Given the description of an element on the screen output the (x, y) to click on. 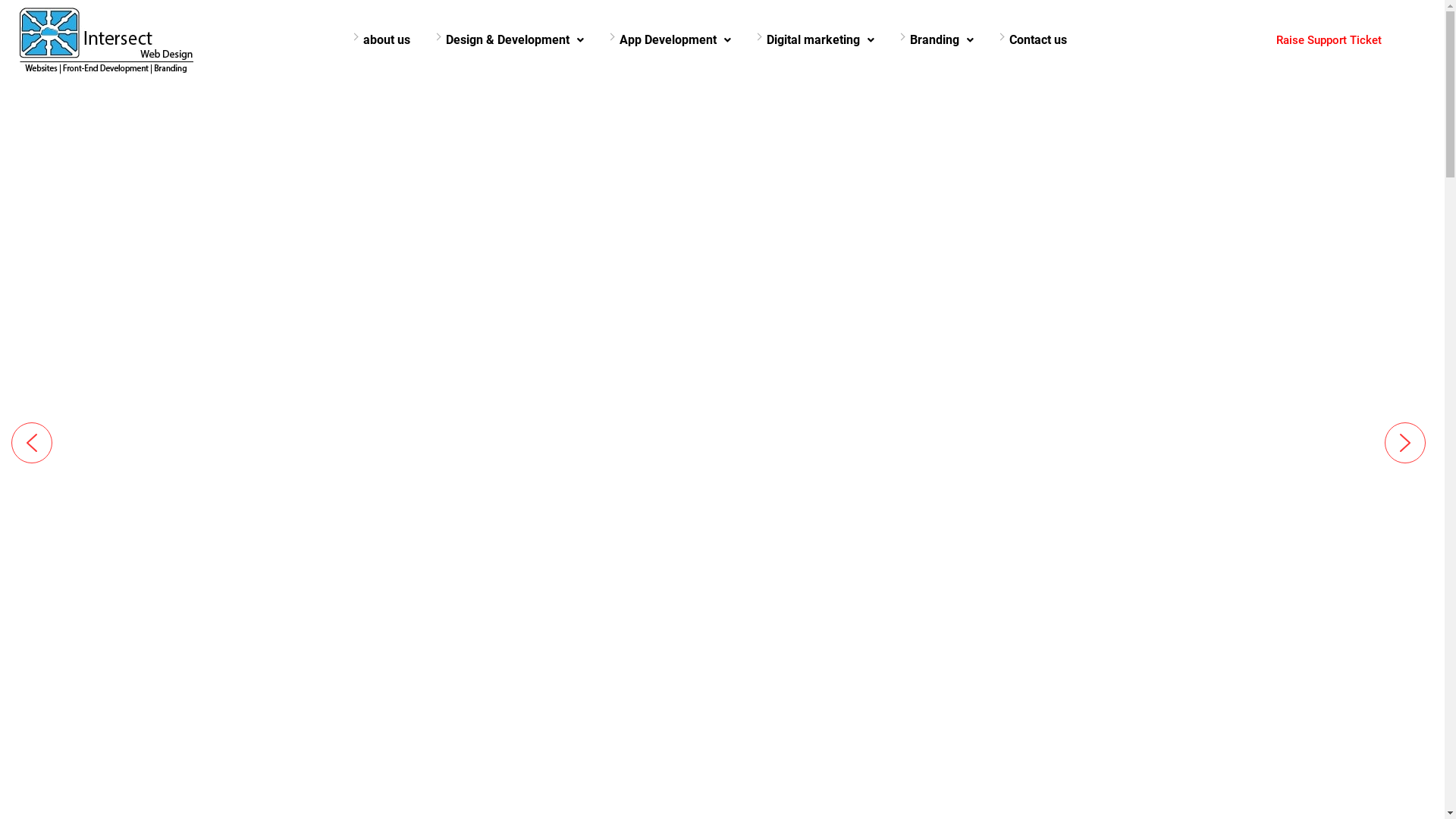
Branding Element type: text (941, 39)
Design & Development Element type: text (514, 39)
Digital marketing Element type: text (820, 39)
Contact us Element type: text (1037, 39)
App Development Element type: text (675, 39)
about us Element type: text (386, 39)
Raise Support Ticket Element type: text (1328, 40)
